Given the description of an element on the screen output the (x, y) to click on. 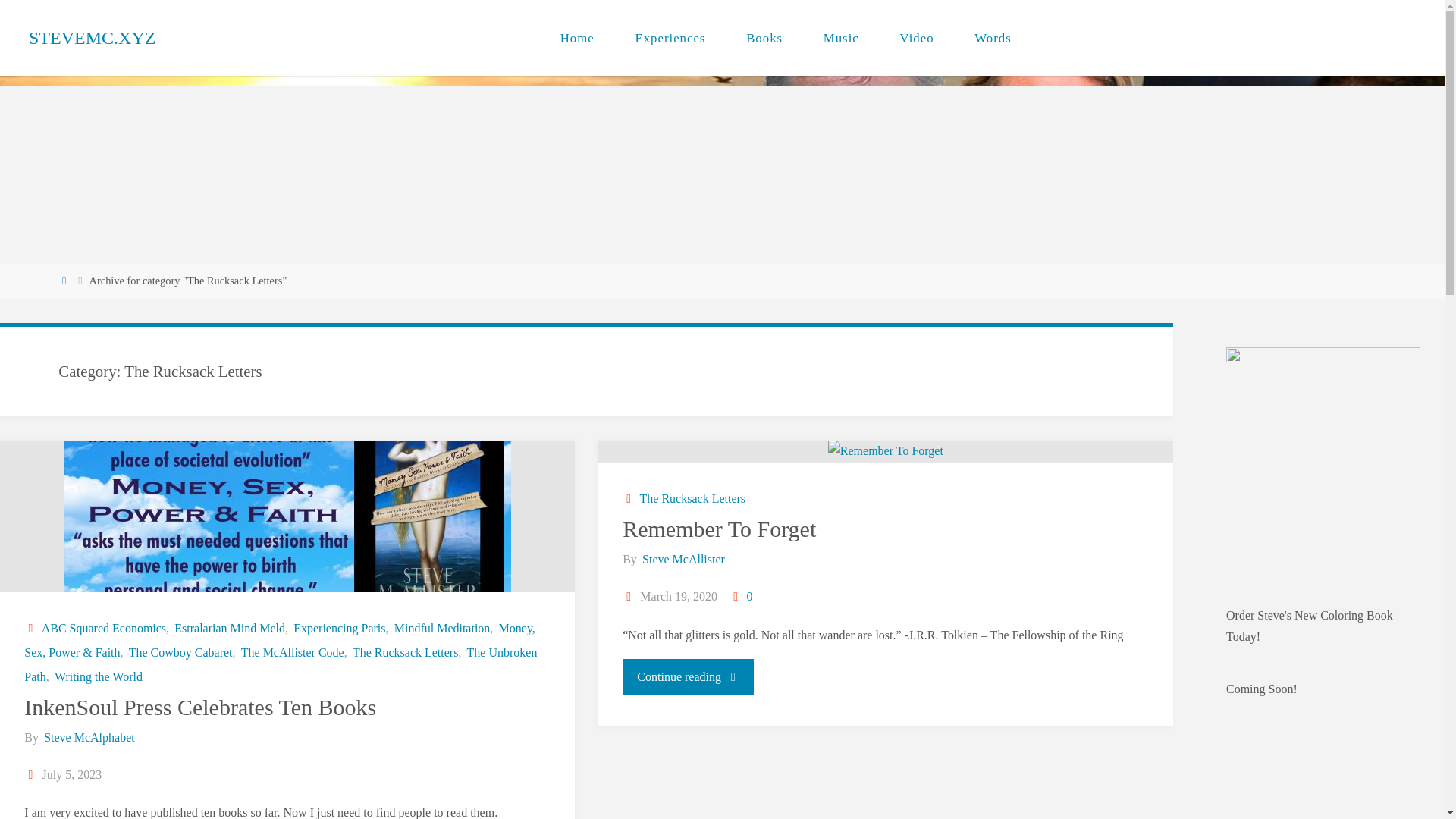
Steve McAlphabet Motorcycling Music Across America (92, 37)
InkenSoul Press Celebrates Ten Books (286, 516)
Date (630, 595)
Remember To Forget (885, 451)
View all posts by Steve McAlphabet (88, 737)
Categories (630, 498)
View all posts by Steve McAllister (682, 558)
Categories (31, 627)
Date (31, 774)
